Given the description of an element on the screen output the (x, y) to click on. 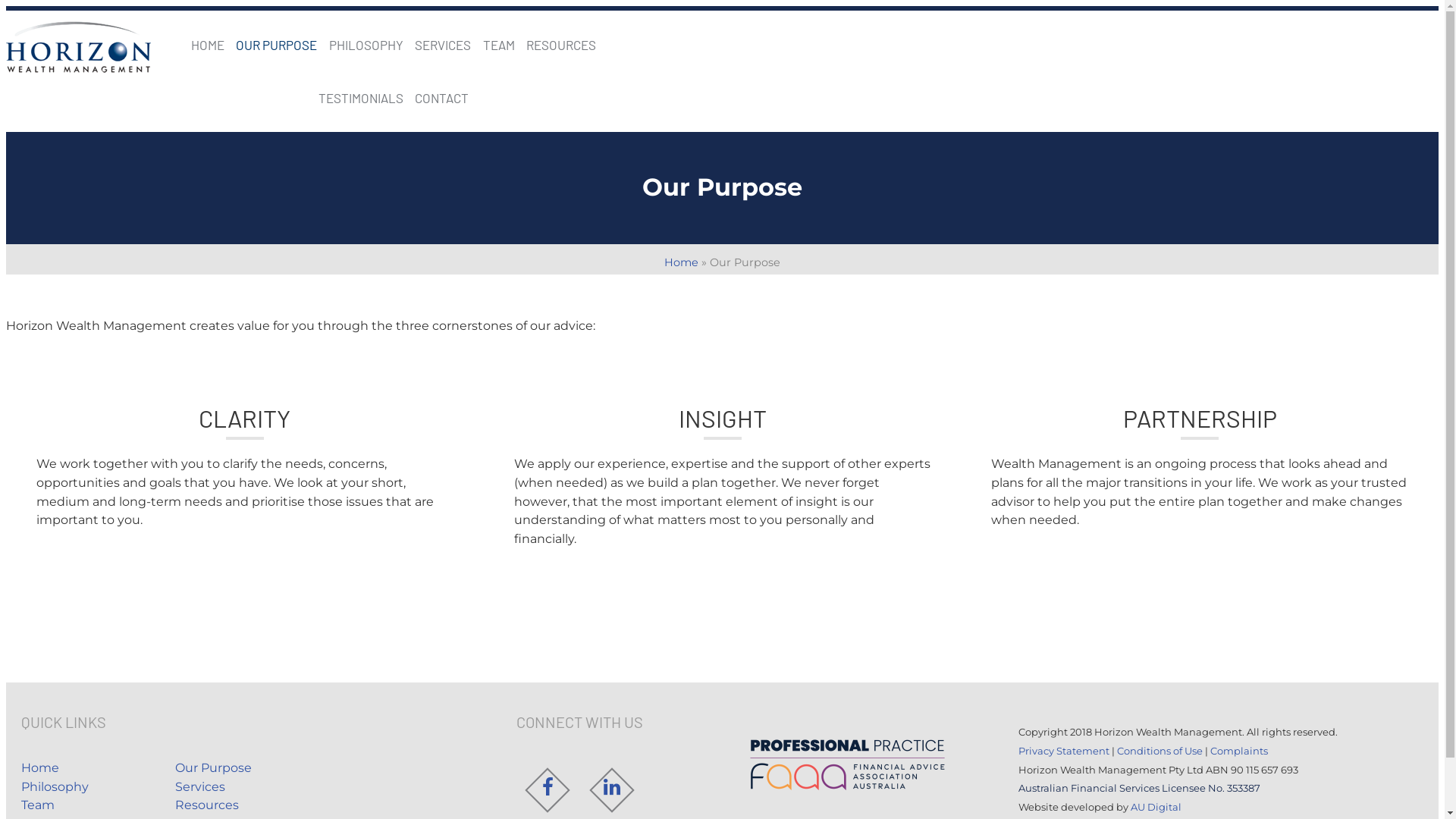
Services Element type: text (200, 786)
Resources Element type: text (206, 804)
Team Element type: text (37, 804)
PHILOSOPHY Element type: text (366, 44)
Conditions of Use Element type: text (1159, 750)
HOME Element type: text (207, 44)
Home Element type: text (681, 262)
RESOURCES Element type: text (561, 44)
Privacy Statement Element type: text (1063, 750)
Our Purpose Element type: text (213, 767)
TEAM Element type: text (498, 44)
TESTIMONIALS Element type: text (360, 97)
OUR PURPOSE Element type: text (275, 44)
SERVICES Element type: text (442, 44)
CONTACT Element type: text (441, 97)
Philosophy Element type: text (54, 786)
Complaints Element type: text (1238, 750)
Home Element type: text (40, 767)
AU Digital Element type: text (1155, 806)
